Given the description of an element on the screen output the (x, y) to click on. 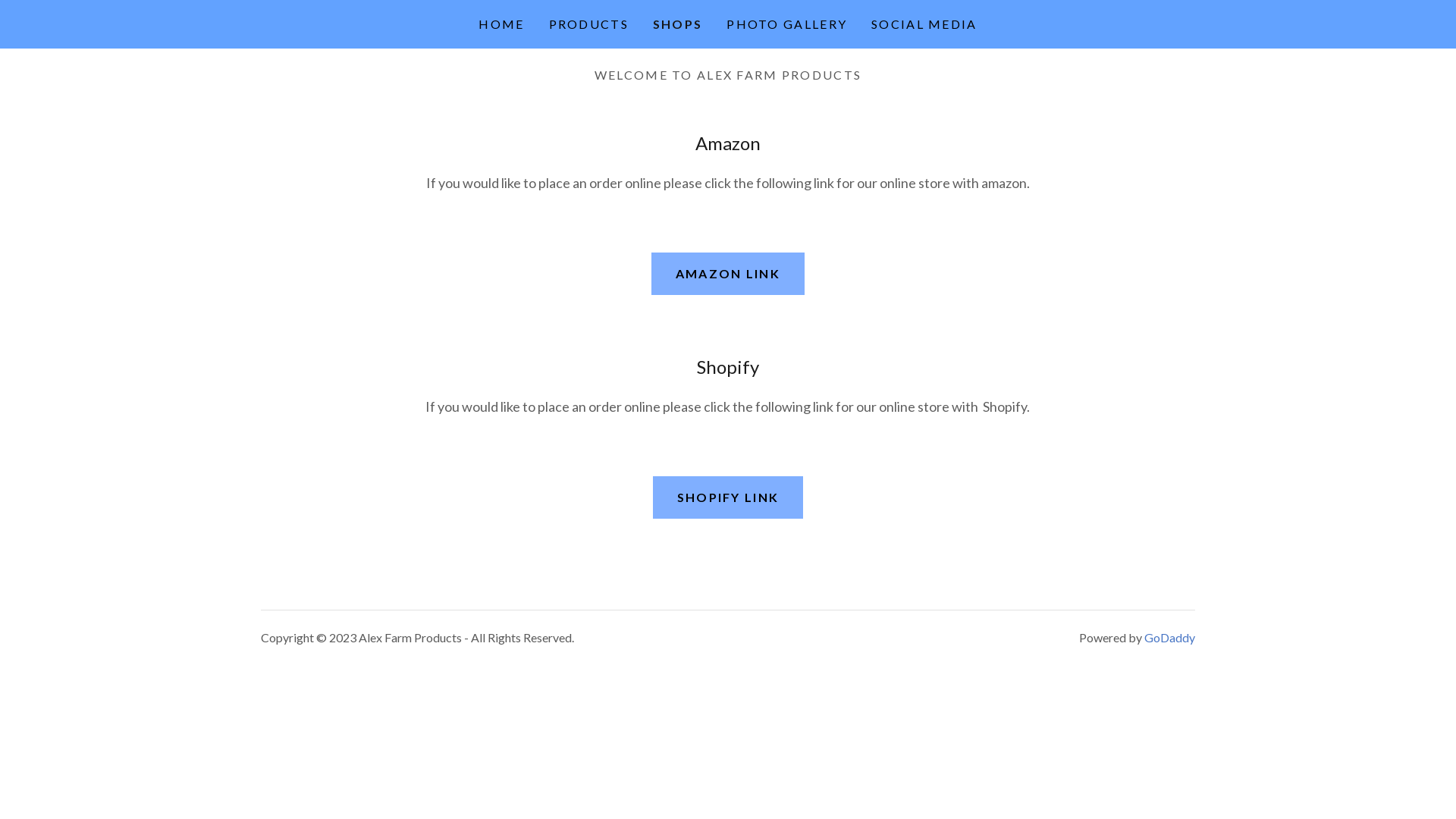
SOCIAL MEDIA Element type: text (923, 23)
PRODUCTS Element type: text (588, 23)
SHOPIFY LINK Element type: text (727, 497)
PHOTO GALLERY Element type: text (786, 23)
HOME Element type: text (500, 23)
SHOPS Element type: text (677, 24)
GoDaddy Element type: text (1169, 637)
AMAZON LINK Element type: text (727, 273)
